Given the description of an element on the screen output the (x, y) to click on. 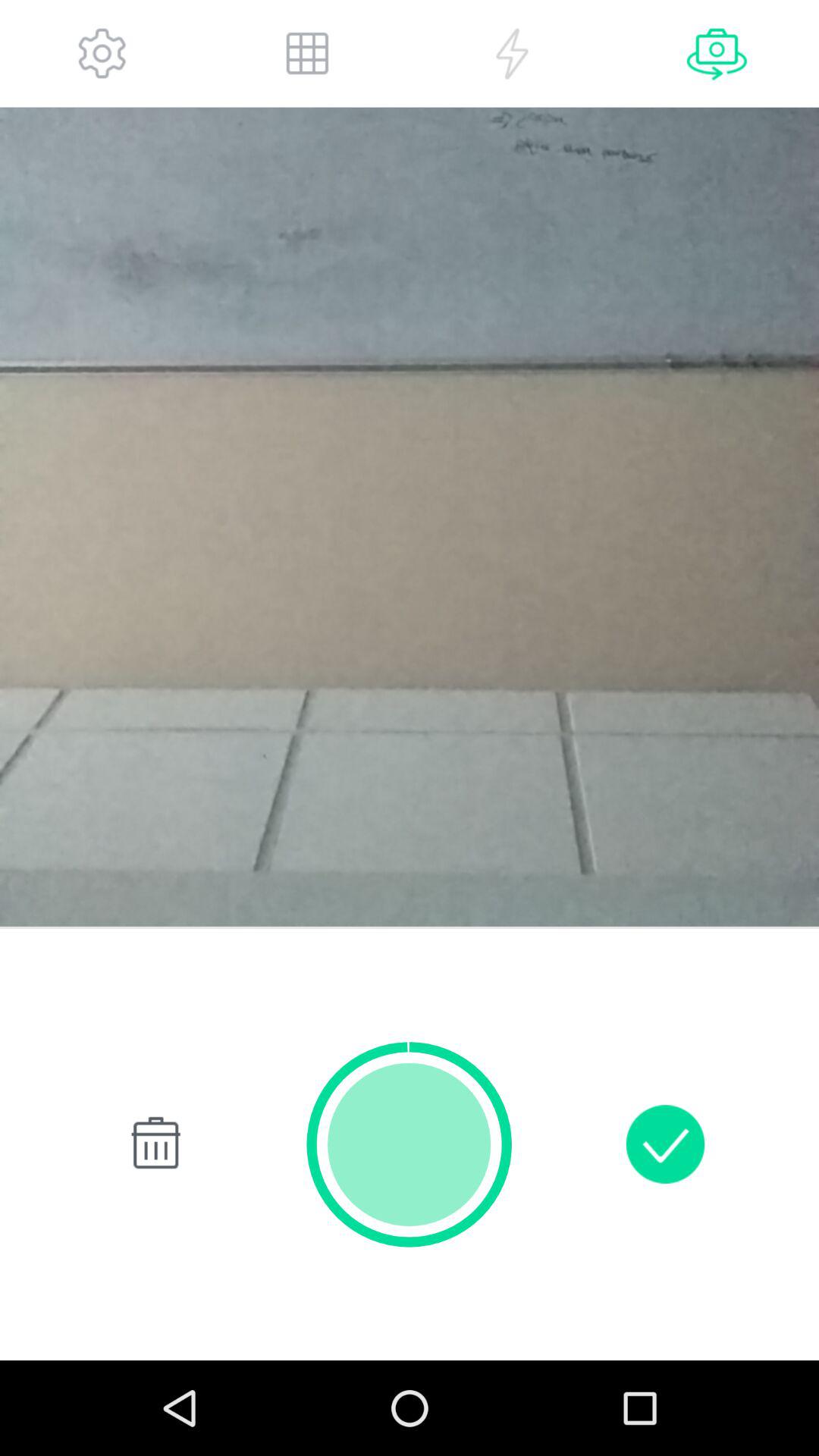
select the option (511, 53)
